Given the description of an element on the screen output the (x, y) to click on. 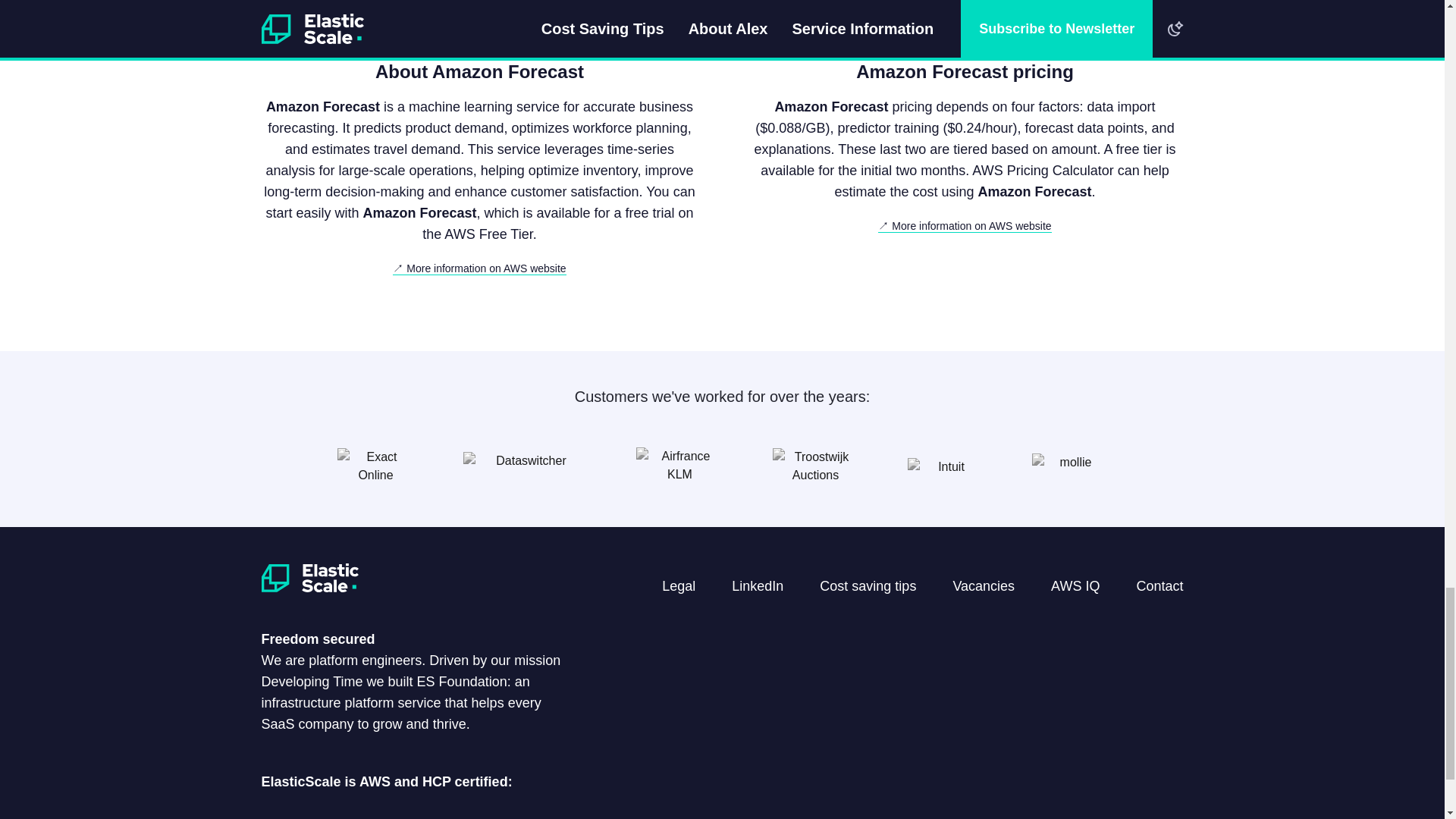
AWS Solutions Architect Associate (575, 814)
AWS Developer Associate (484, 814)
Vacancies (983, 585)
AWS Solutions Architect Professional (300, 814)
AWS DevOps Engineer Professional (392, 814)
Contact (1158, 585)
Cost saving tips (867, 585)
HashiCorp Terraform Associate (759, 814)
AWS SysOps Administrator Associate (667, 814)
AWS IQ (1075, 585)
